Given the description of an element on the screen output the (x, y) to click on. 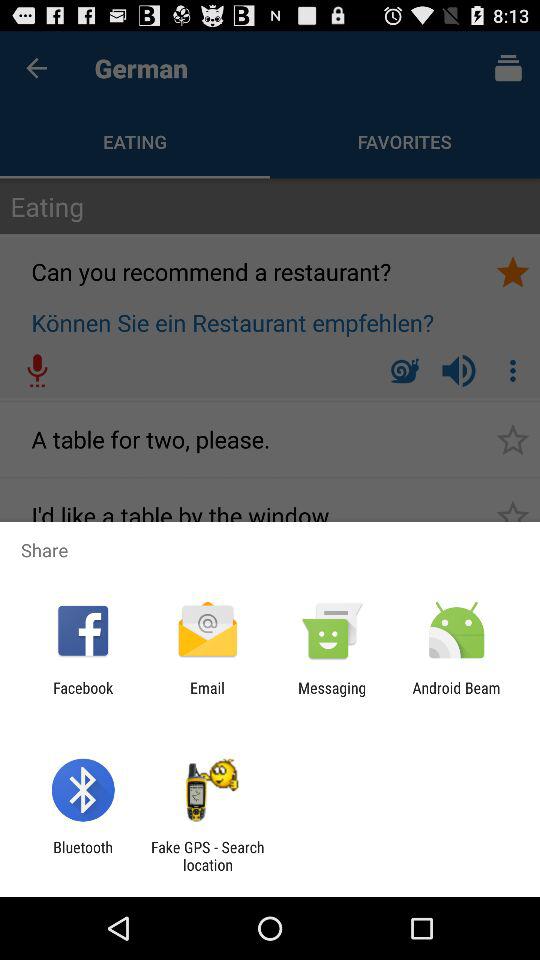
click app to the left of android beam (332, 696)
